Given the description of an element on the screen output the (x, y) to click on. 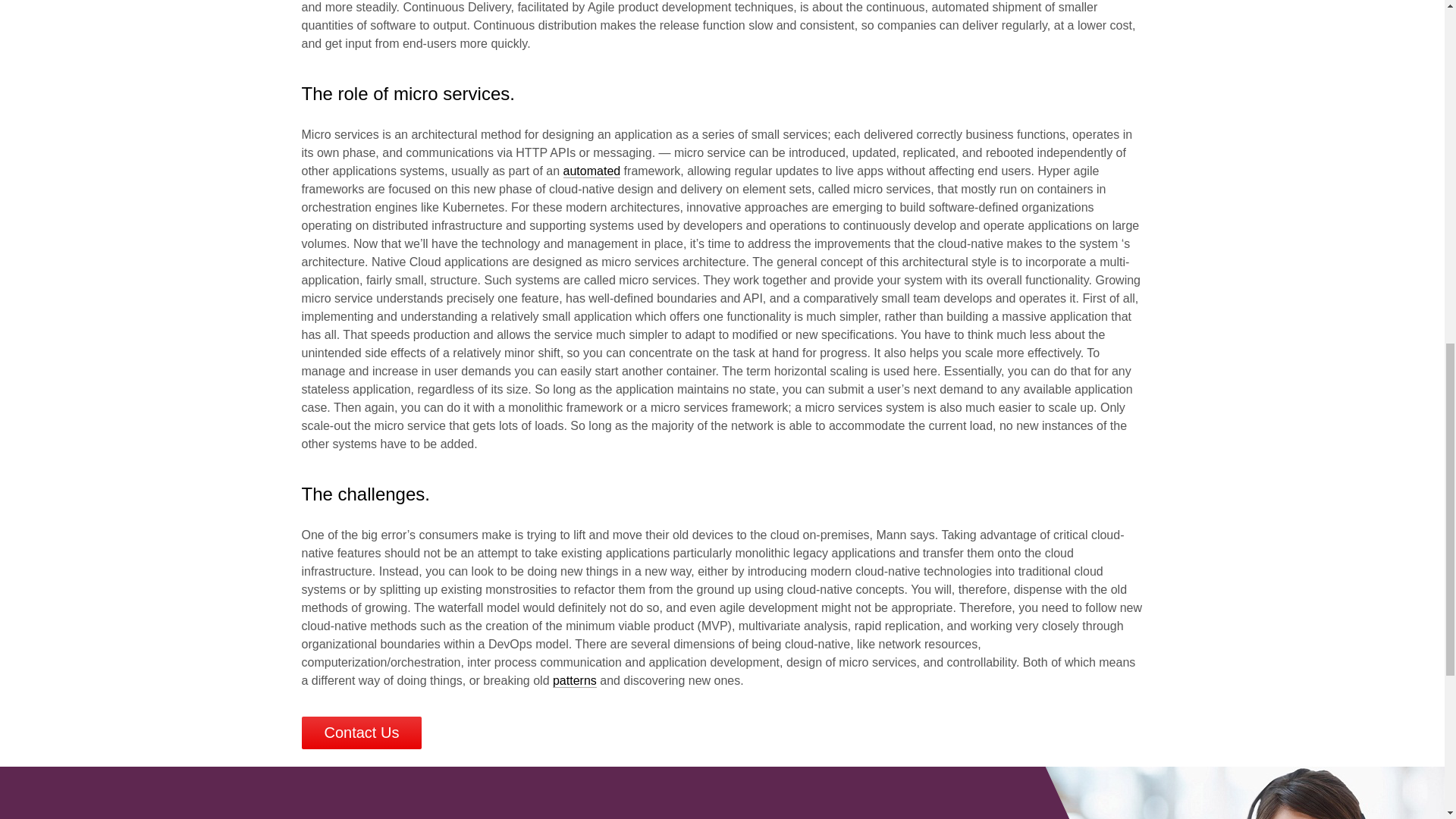
automated (592, 171)
patterns (574, 680)
Contact Us (361, 732)
